Given the description of an element on the screen output the (x, y) to click on. 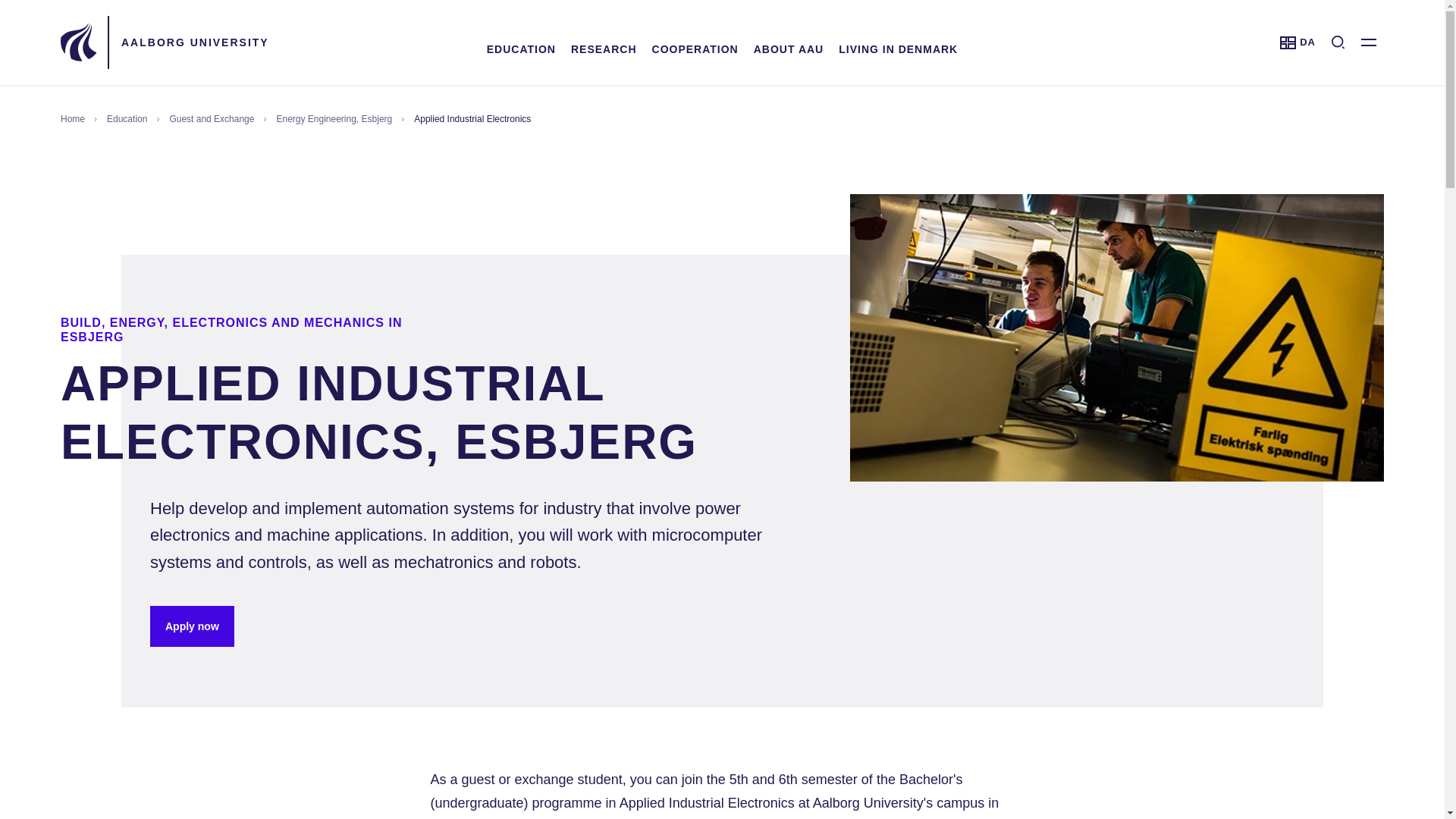
Search (1338, 42)
Living in Denmark (898, 49)
EDUCATION (1297, 42)
Research (521, 49)
Cooperation (603, 49)
Education (695, 49)
ABOUT AAU (521, 49)
Aalborg University (789, 49)
COOPERATION (194, 42)
